Given the description of an element on the screen output the (x, y) to click on. 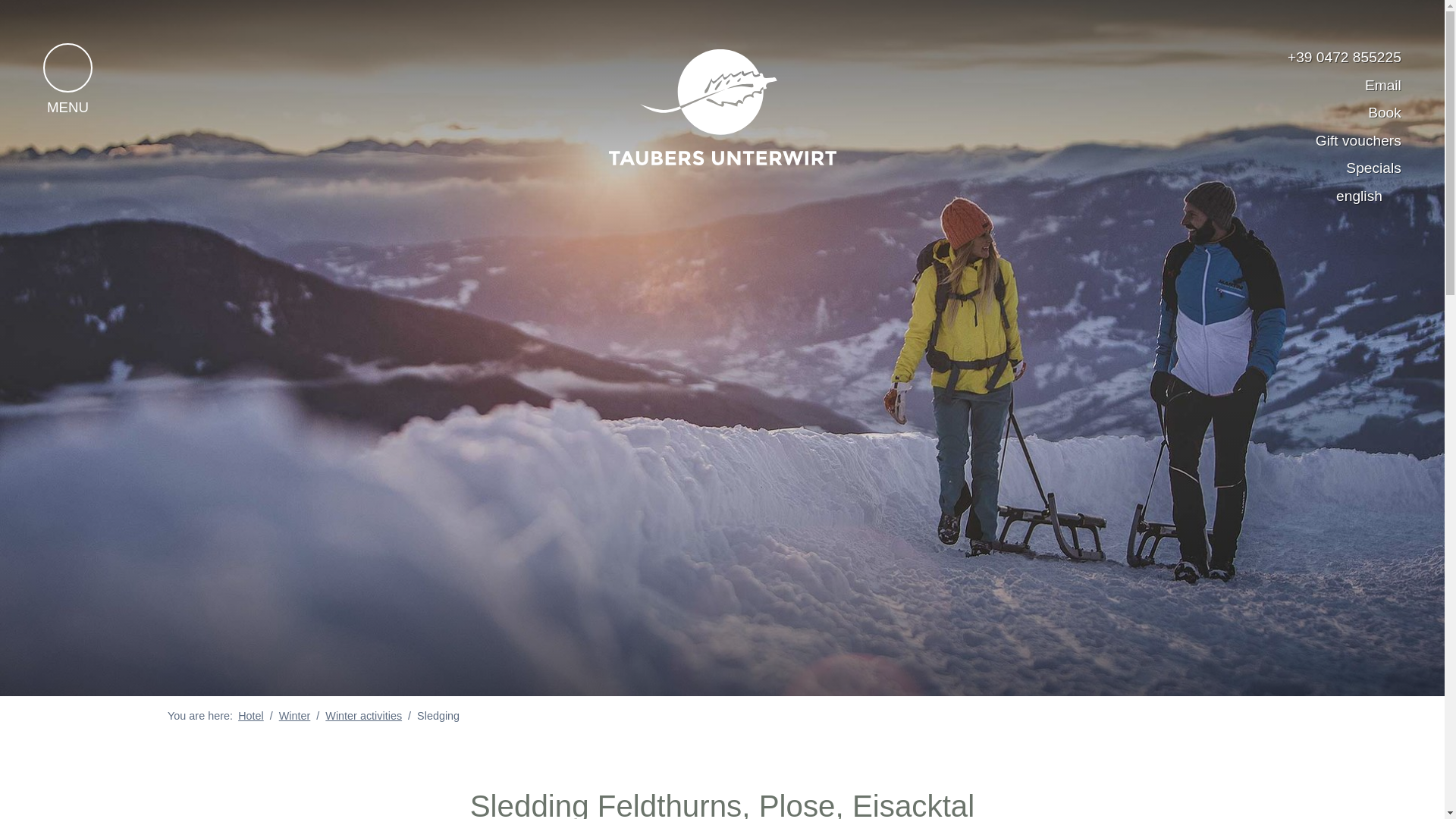
Email (1371, 84)
Winter (295, 715)
Winter activities (362, 715)
Book (1372, 112)
Hotel (250, 715)
Specials (1361, 167)
Gift vouchers (1346, 140)
